Given the description of an element on the screen output the (x, y) to click on. 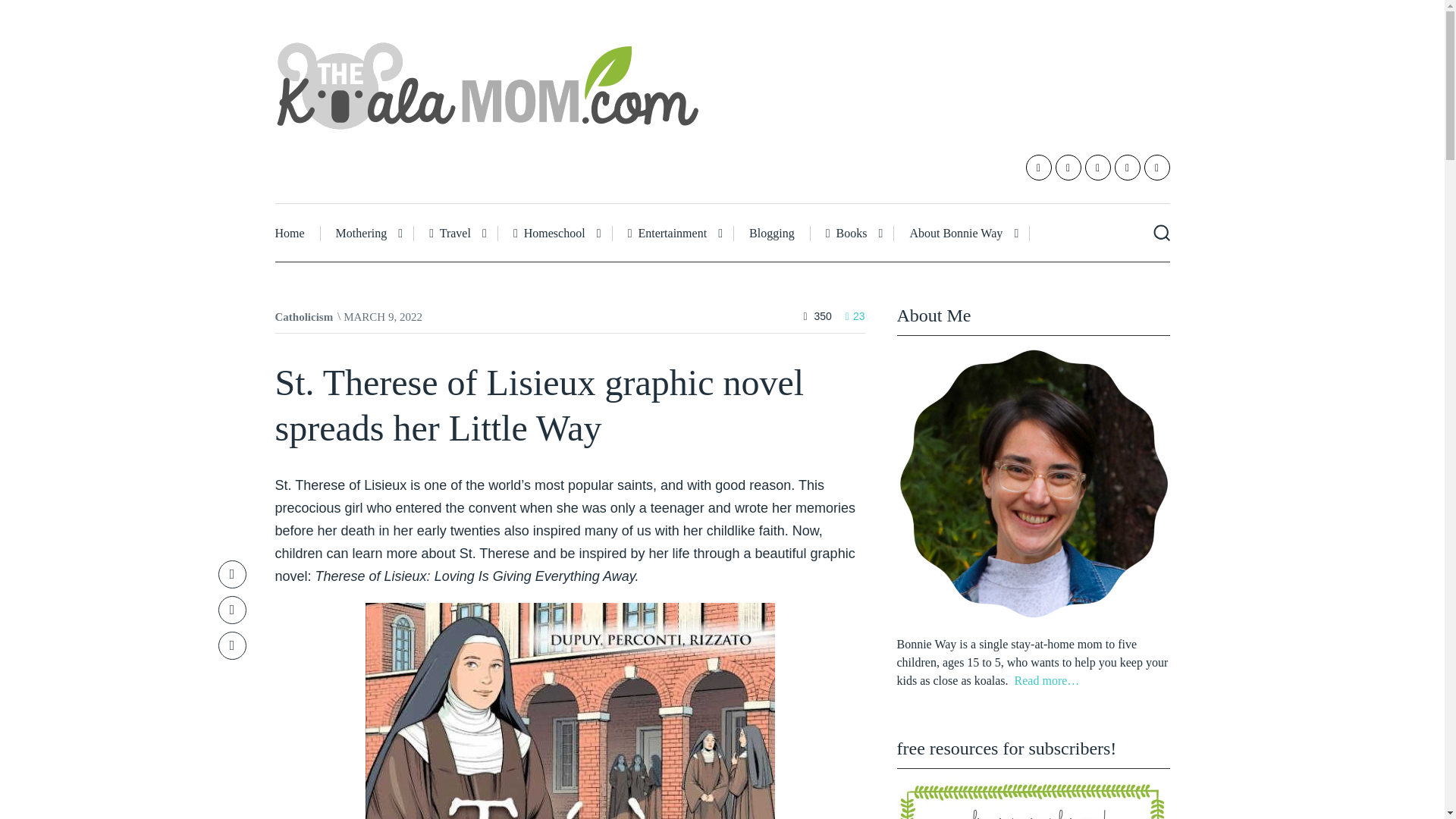
Like (854, 316)
Books (852, 233)
Travel (455, 233)
Home (297, 233)
Entertainment (672, 233)
free resources for subscribers! (1032, 799)
View all posts in Catholicism (304, 316)
Homeschool (554, 233)
Mothering (367, 233)
